Given the description of an element on the screen output the (x, y) to click on. 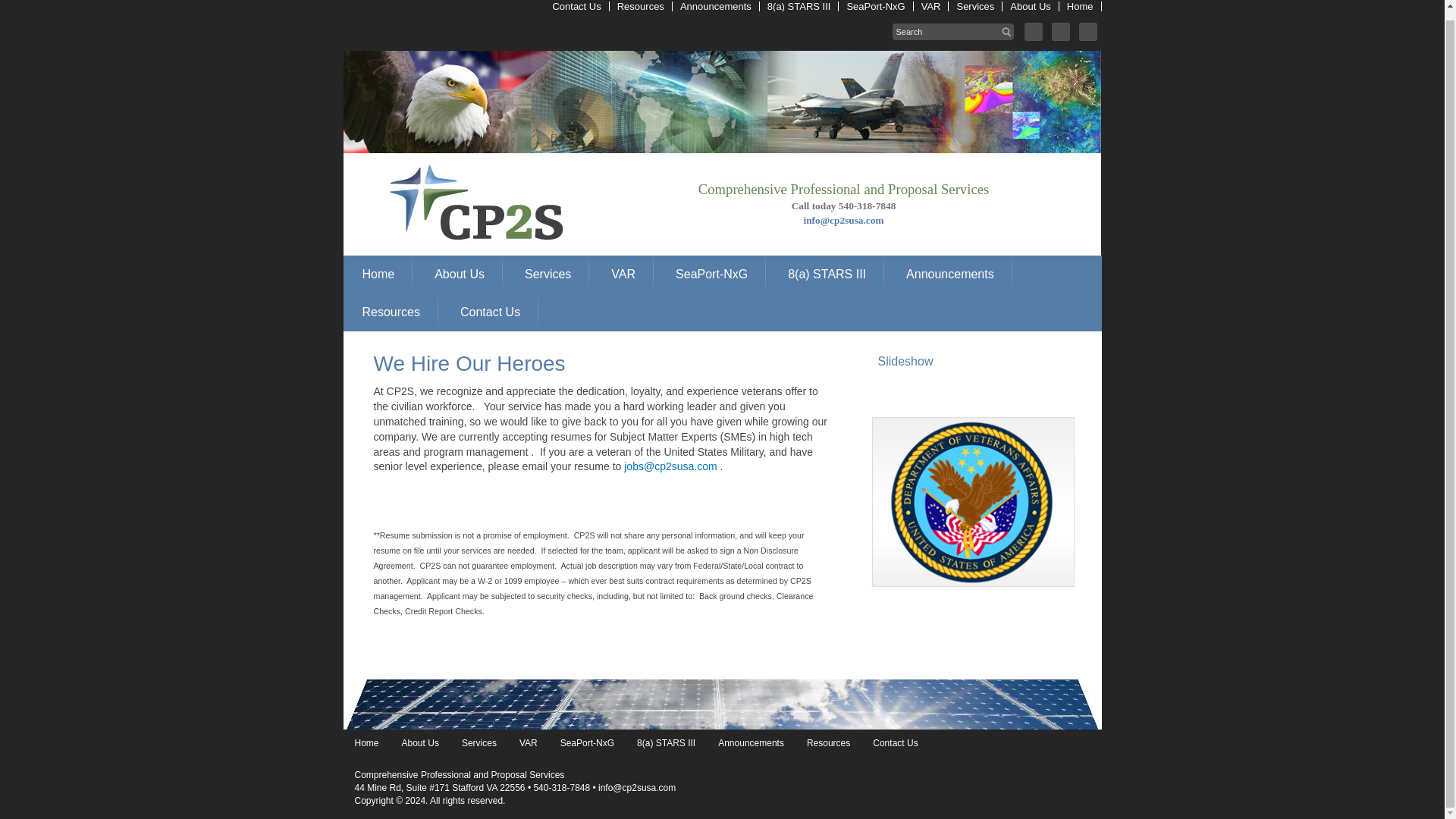
Services (976, 6)
VAR (931, 6)
Home (379, 274)
VAR (623, 274)
Announcements (949, 274)
About Us (459, 274)
CP2S USA (463, 156)
Contact Us (489, 312)
SeaPort-NxG (875, 6)
Home (1080, 6)
Search (17, 5)
SeaPort-NxG (711, 274)
Announcements (716, 6)
Contact Us (576, 6)
Resources (391, 312)
